Given the description of an element on the screen output the (x, y) to click on. 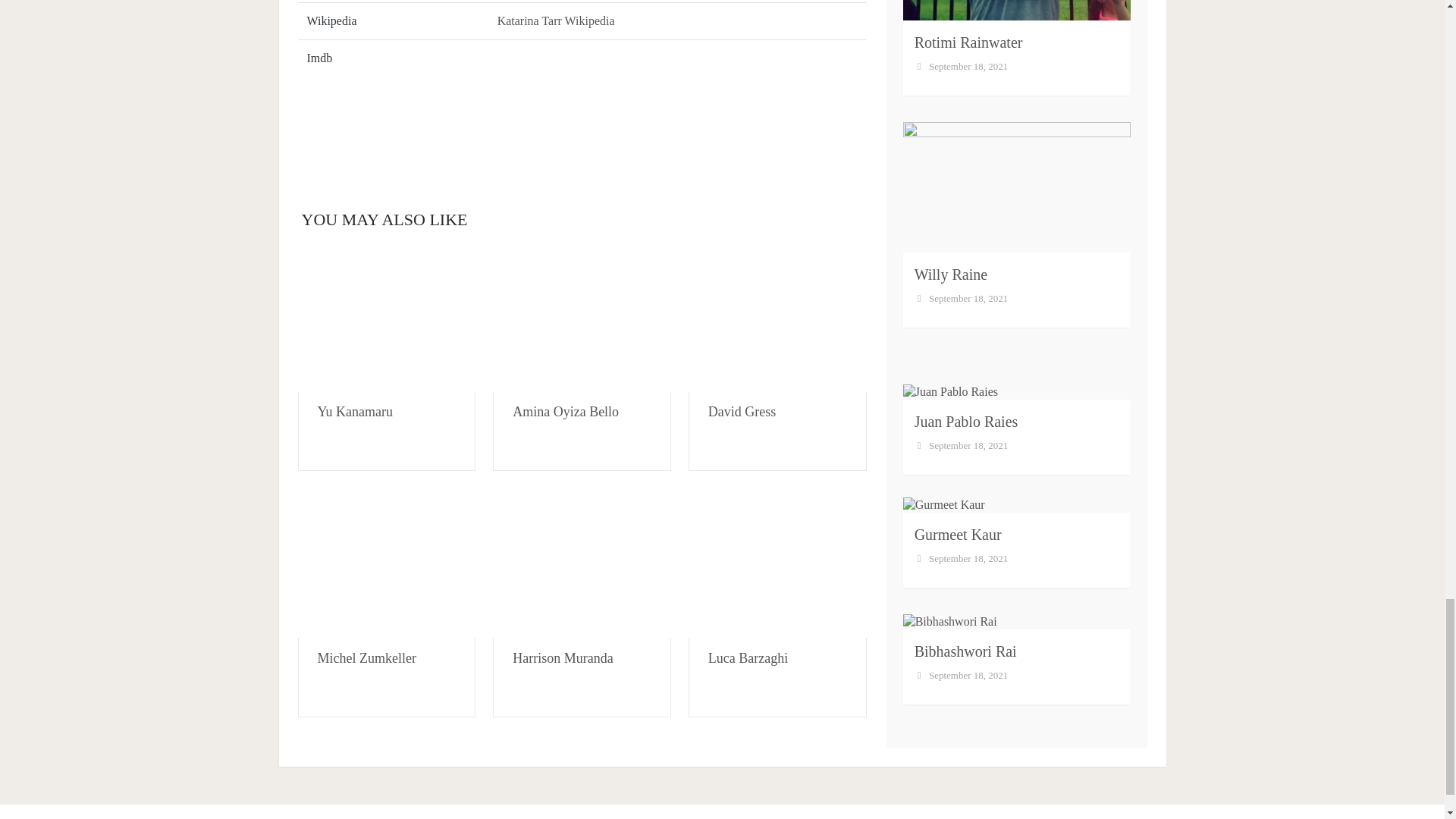
Amina Oyiza Bello (582, 319)
Corona Tracker (581, 123)
Michel Zumkeller (365, 657)
Luca Barzaghi (777, 565)
Yu Kanamaru (386, 319)
David Gress (741, 411)
Yu Kanamaru (354, 411)
Katarina Tarr Wikipedia (555, 20)
Luca Barzaghi (747, 657)
Amina Oyiza Bello (565, 411)
